Given the description of an element on the screen output the (x, y) to click on. 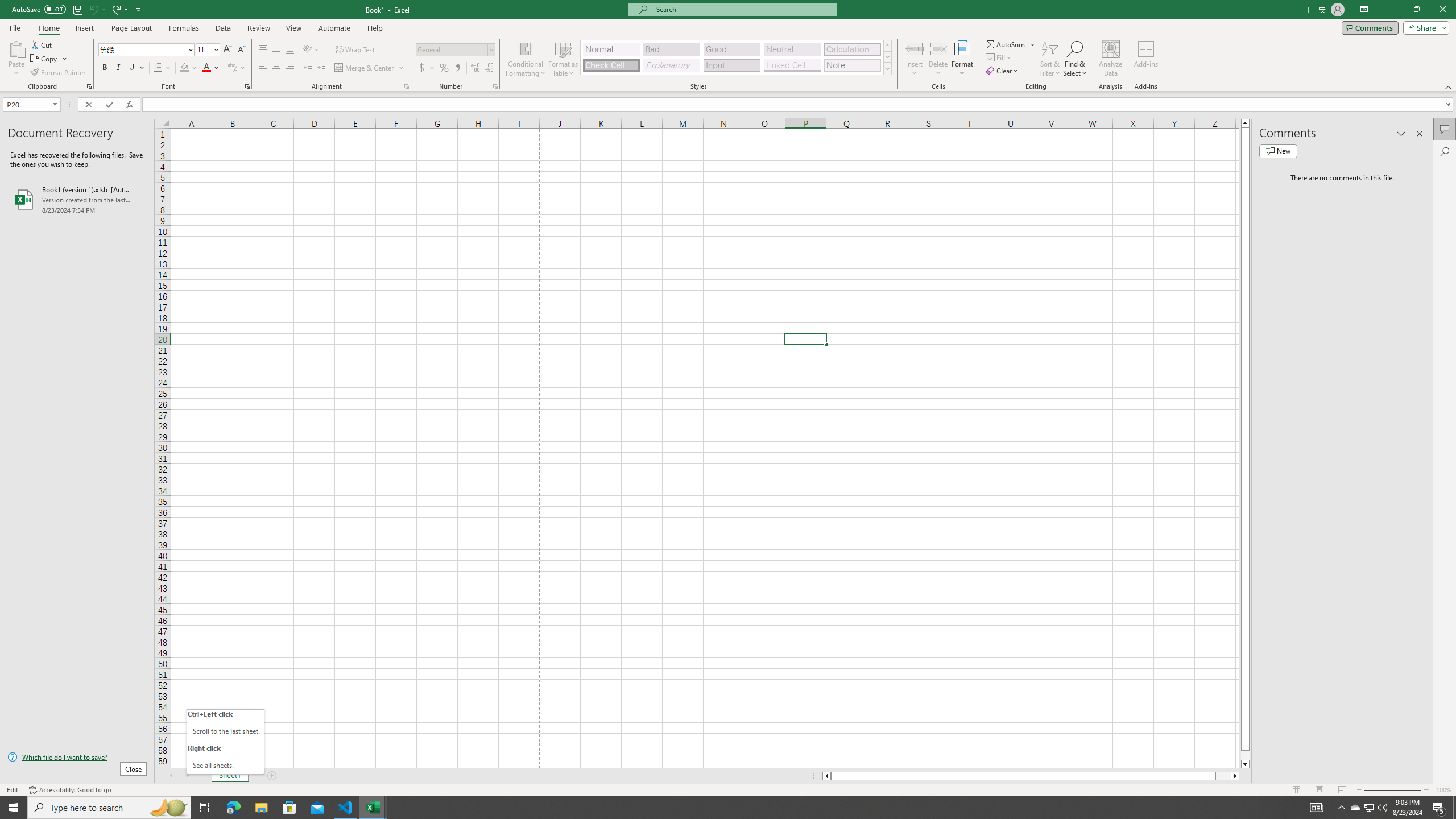
Orientation (311, 49)
Align Left (262, 67)
Font Size (204, 49)
Fill Color RGB(255, 255, 0) (183, 67)
Format Cell Number (494, 85)
Increase Font Size (227, 49)
Paste (16, 58)
Number Format (455, 49)
Top Align (262, 49)
